Given the description of an element on the screen output the (x, y) to click on. 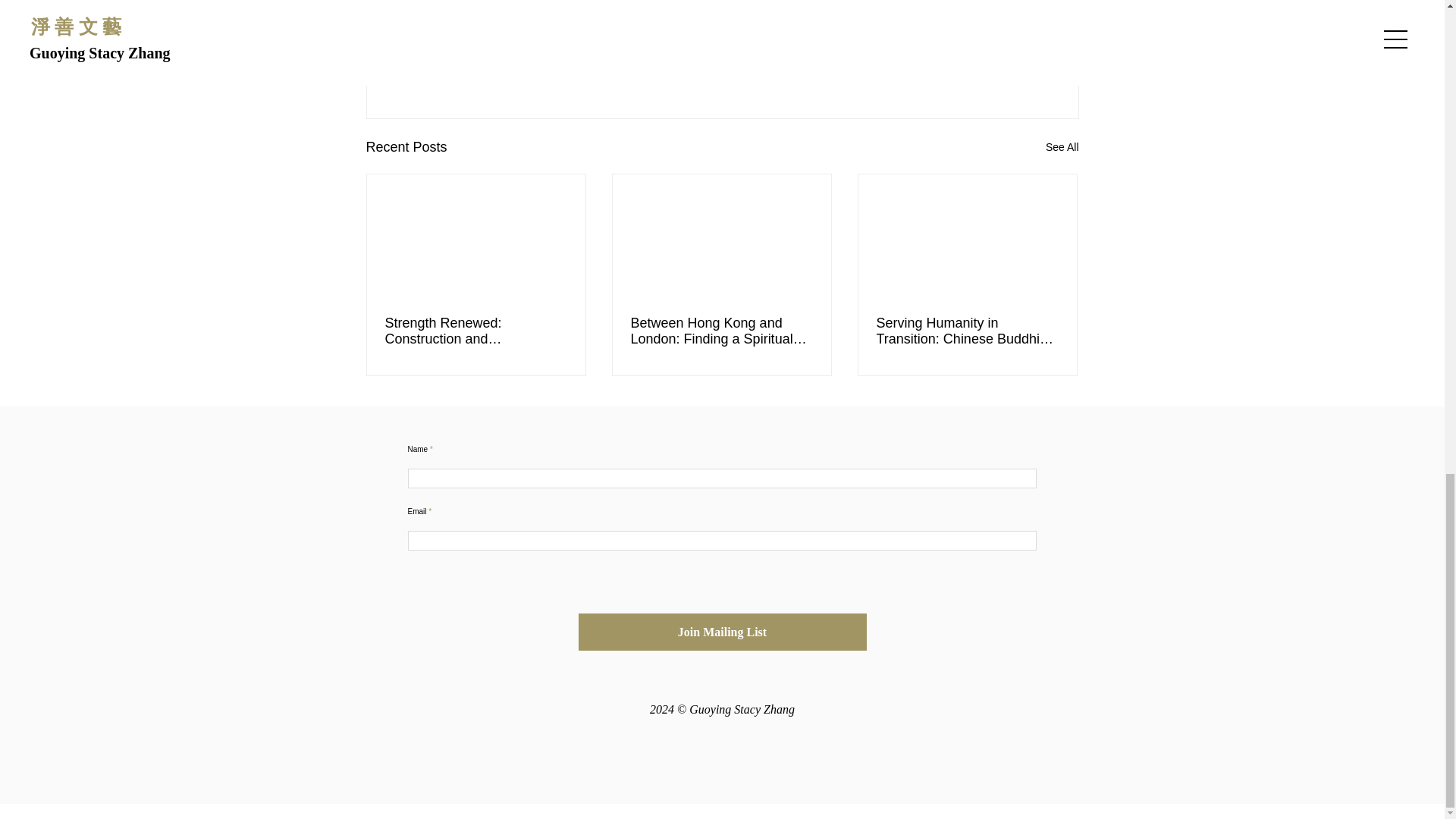
See All (1061, 147)
Grapdes (946, 705)
Join Mailing List (722, 631)
